Given the description of an element on the screen output the (x, y) to click on. 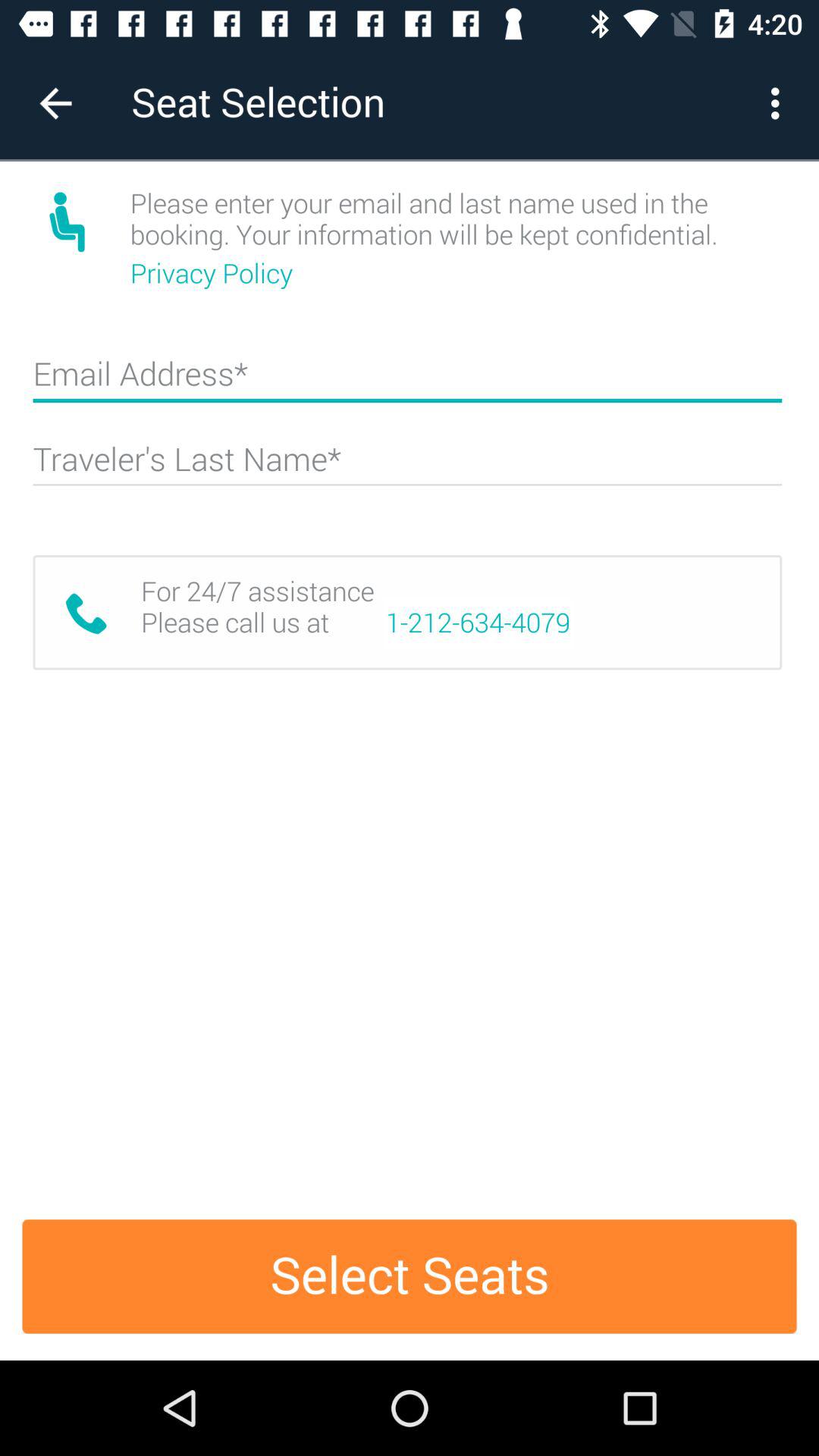
jump to the select seats item (409, 1276)
